Given the description of an element on the screen output the (x, y) to click on. 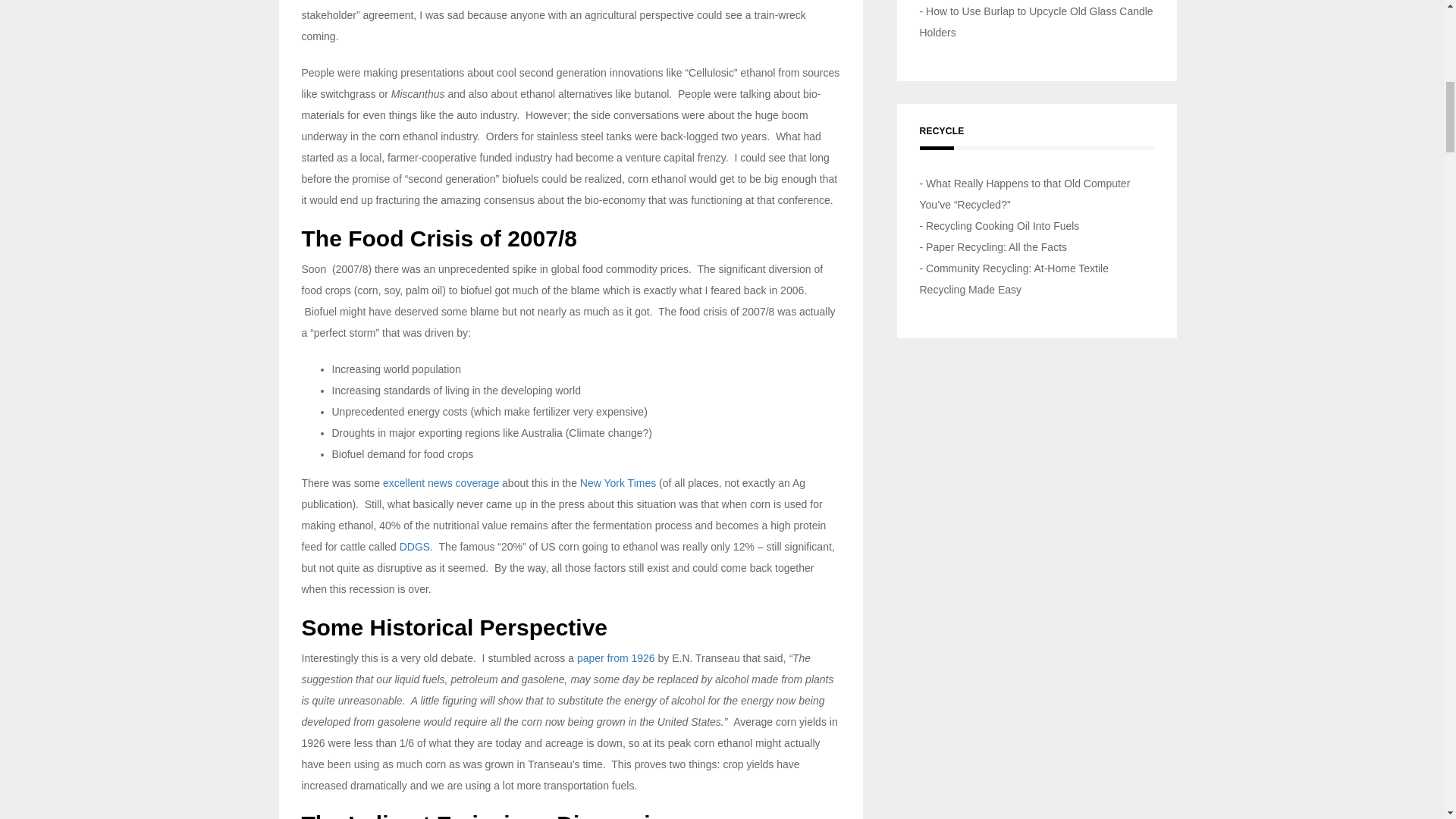
New York Times (617, 482)
excellent news coverage (442, 482)
DDGS (413, 546)
